Given the description of an element on the screen output the (x, y) to click on. 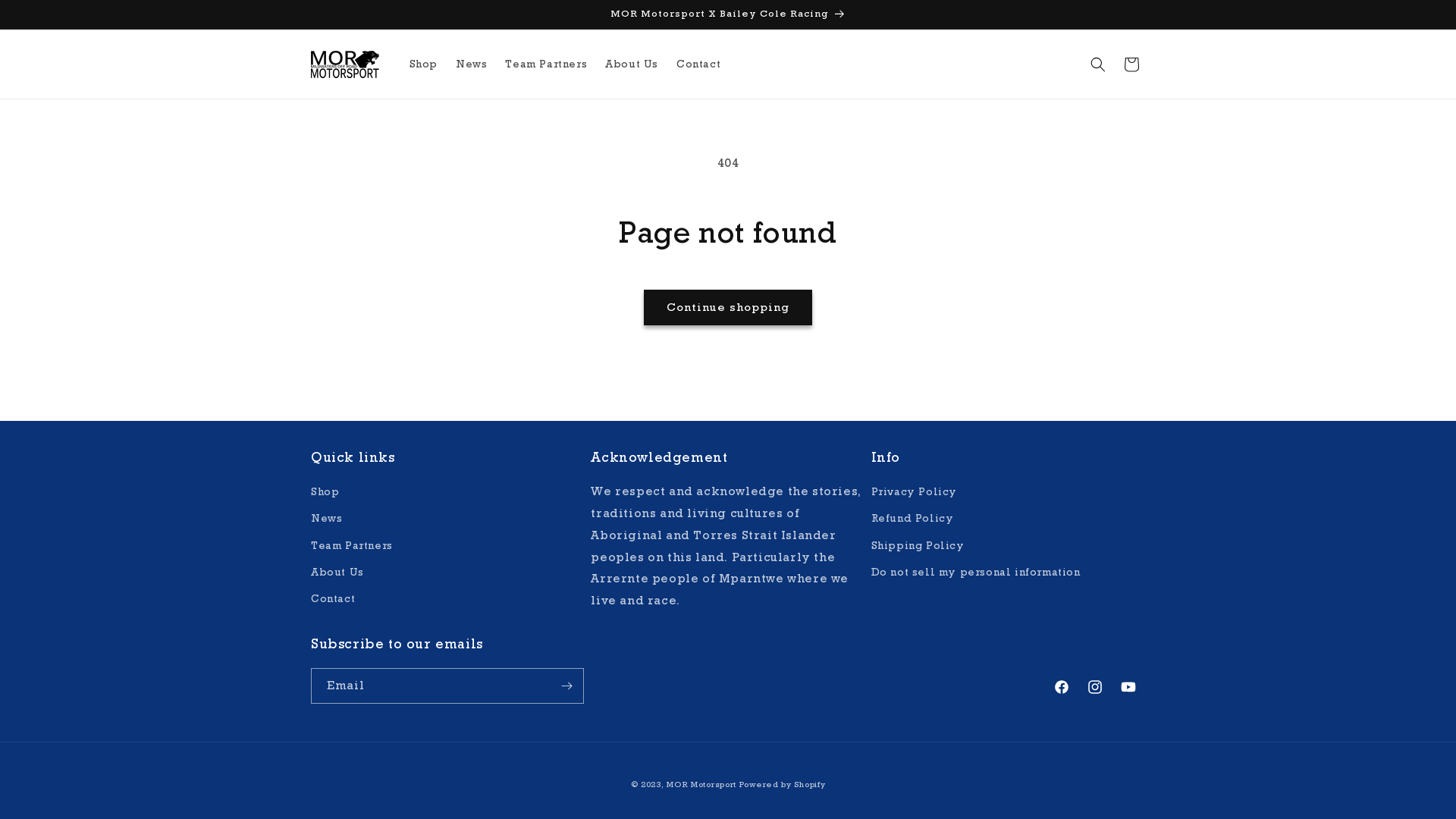
Cart Element type: text (1131, 63)
Powered by Shopify Element type: text (782, 783)
Shipping Policy Element type: text (917, 545)
Refund Policy Element type: text (912, 518)
Continue shopping Element type: text (727, 307)
Team Partners Element type: text (545, 63)
About Us Element type: text (631, 63)
Team Partners Element type: text (351, 545)
Contact Element type: text (698, 63)
News Element type: text (470, 63)
Facebook Element type: text (1061, 686)
MOR Motorsport X Bailey Cole Racing Element type: text (727, 14)
Shop Element type: text (423, 63)
Contact Element type: text (332, 598)
YouTube Element type: text (1128, 686)
MOR Motorsport Element type: text (701, 783)
About Us Element type: text (337, 571)
Shop Element type: text (324, 493)
Instagram Element type: text (1094, 686)
Privacy Policy Element type: text (914, 493)
News Element type: text (326, 518)
Do not sell my personal information Element type: text (975, 571)
